Given the description of an element on the screen output the (x, y) to click on. 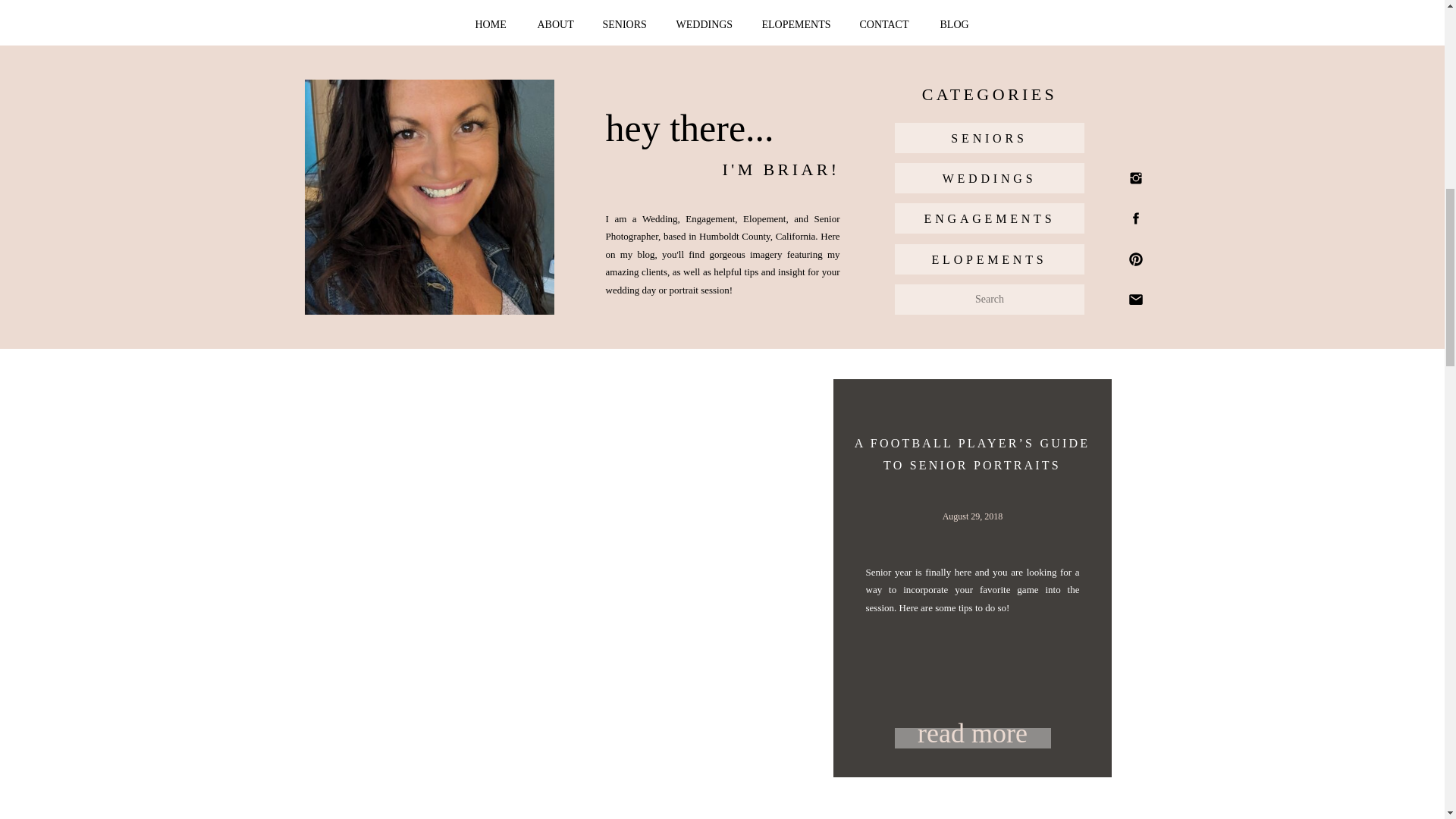
WEDDINGS (989, 178)
CONTACT (887, 25)
ENGAGEMENTS (989, 218)
ABOUT (556, 25)
WEDDINGS (706, 25)
BLOG (956, 25)
SENIORS (626, 25)
ELOPEMENTS (989, 259)
HOME (491, 25)
read more (973, 731)
ELOPEMENTS (796, 25)
SENIORS (989, 137)
